Given the description of an element on the screen output the (x, y) to click on. 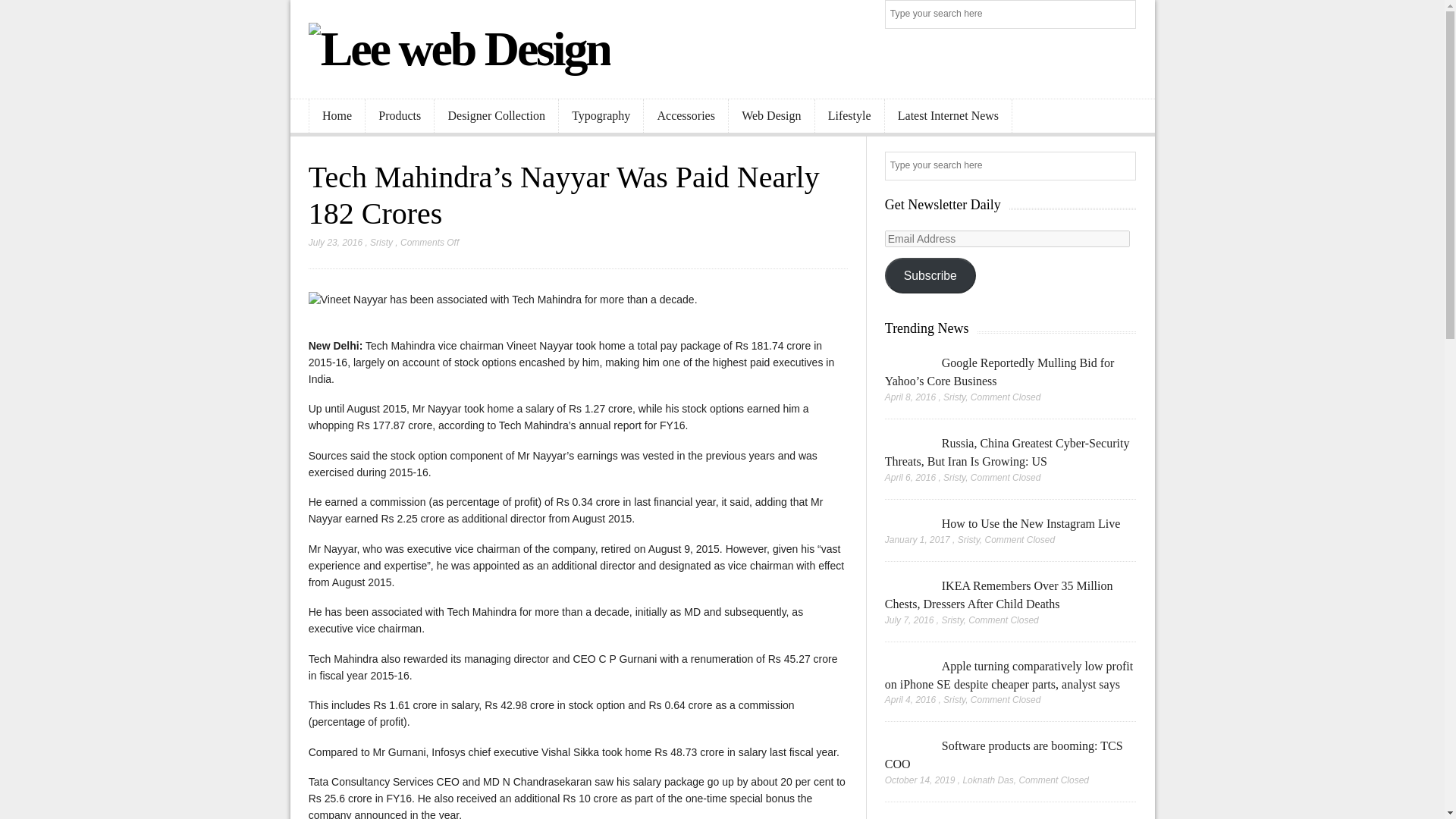
Home (336, 116)
Accessories (685, 116)
Web Design (771, 116)
Posts by Sristy (381, 242)
Designer Collection (495, 116)
Sristy (381, 242)
Typography (601, 116)
Lifestyle (849, 116)
Latest Internet News (948, 116)
Search (1123, 15)
